Given the description of an element on the screen output the (x, y) to click on. 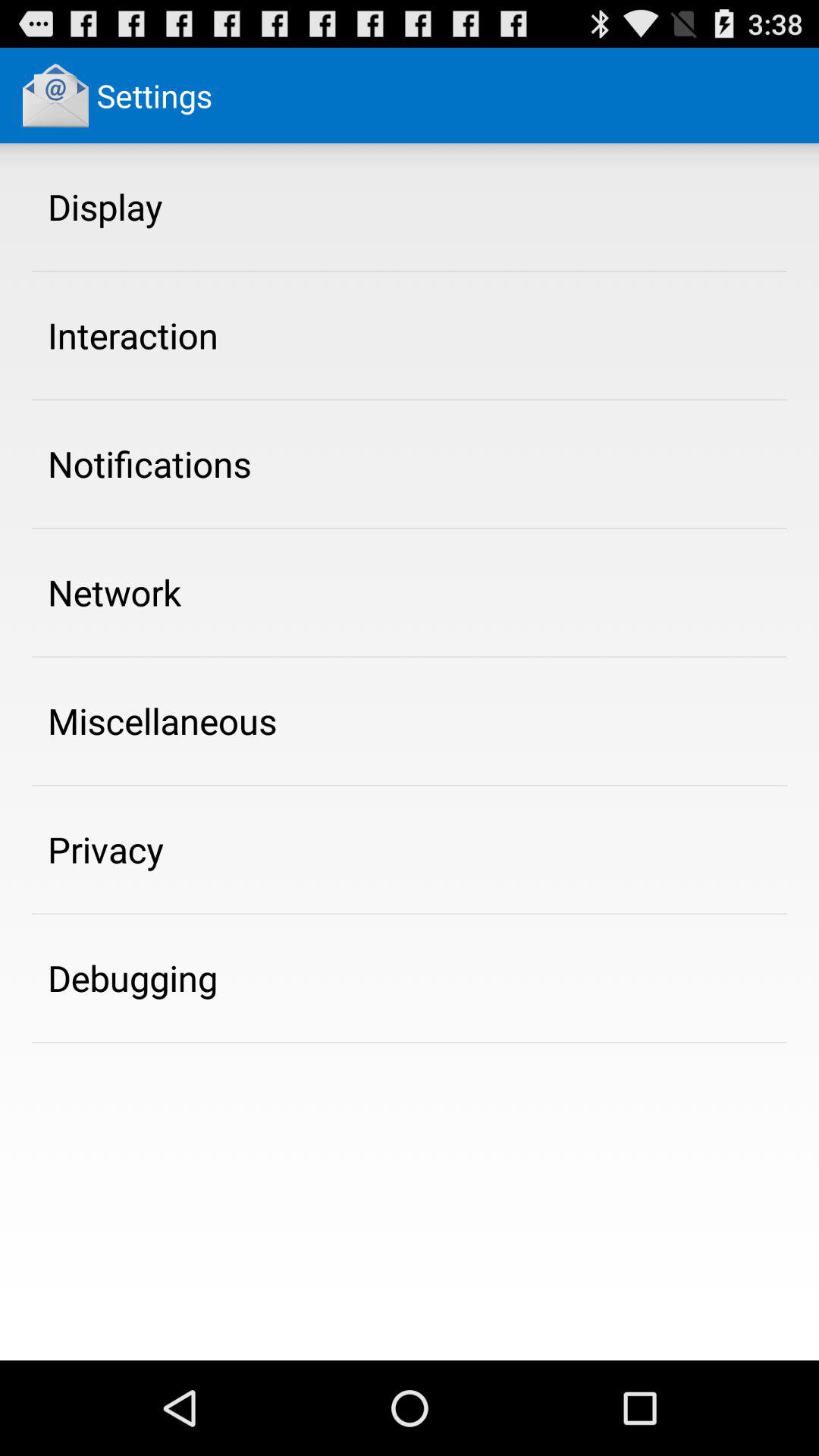
flip until the display icon (104, 206)
